Given the description of an element on the screen output the (x, y) to click on. 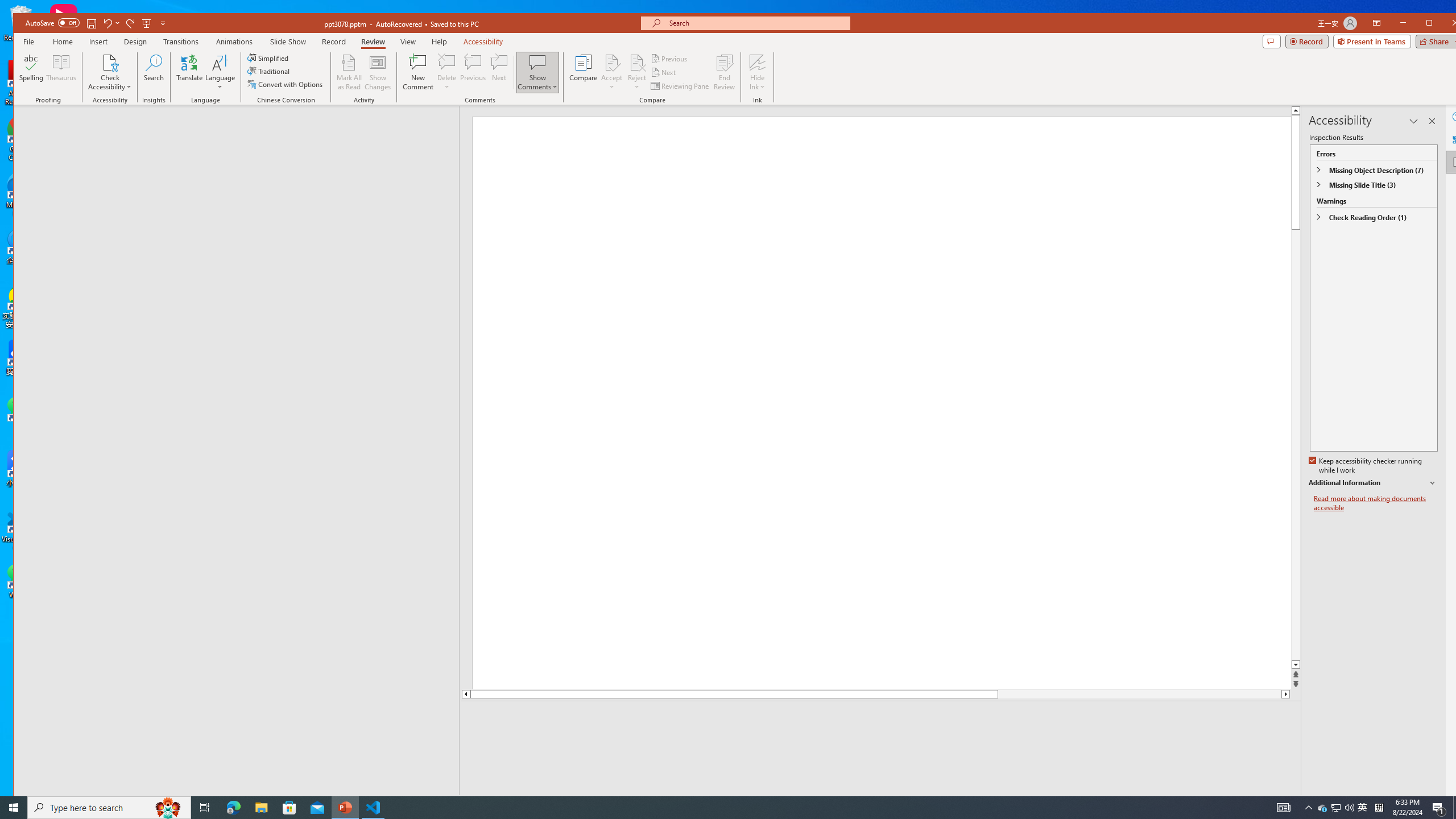
Keep accessibility checker running while I work (1365, 465)
Language (219, 72)
Read more about making documents accessible (1375, 502)
Rectangle (229, 450)
Line up (465, 693)
End Review (723, 72)
Slide Show Next On (1253, 802)
Hide Ink (757, 72)
Next (664, 72)
Delete (446, 61)
